Given the description of an element on the screen output the (x, y) to click on. 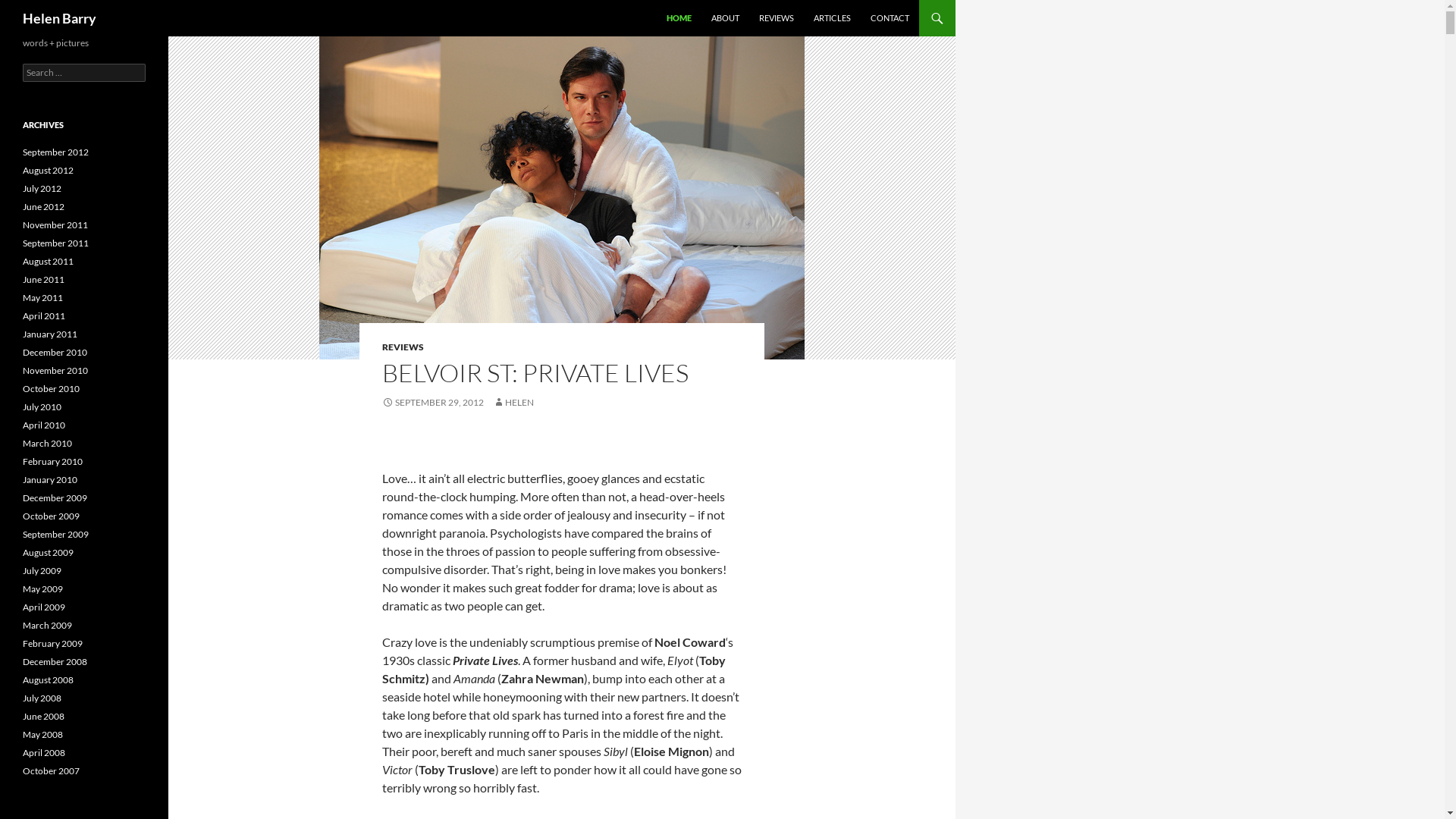
September 2009 Element type: text (55, 533)
August 2008 Element type: text (47, 679)
SKIP TO CONTENT Element type: text (666, 0)
August 2009 Element type: text (47, 552)
March 2009 Element type: text (47, 624)
July 2008 Element type: text (41, 697)
December 2009 Element type: text (54, 497)
July 2009 Element type: text (41, 570)
July 2010 Element type: text (41, 406)
April 2011 Element type: text (43, 315)
January 2010 Element type: text (49, 479)
October 2007 Element type: text (50, 770)
February 2010 Element type: text (52, 461)
January 2011 Element type: text (49, 333)
December 2008 Element type: text (54, 661)
July 2012 Element type: text (41, 188)
November 2011 Element type: text (54, 224)
REVIEWS Element type: text (402, 346)
CONTACT Element type: text (889, 18)
SEPTEMBER 29, 2012 Element type: text (432, 401)
December 2010 Element type: text (54, 351)
Search Element type: text (3, 0)
May 2008 Element type: text (42, 734)
September 2011 Element type: text (55, 242)
April 2010 Element type: text (43, 424)
November 2010 Element type: text (54, 370)
September 2012 Element type: text (55, 151)
May 2009 Element type: text (42, 588)
Search Element type: text (29, 9)
October 2009 Element type: text (50, 515)
August 2011 Element type: text (47, 260)
June 2008 Element type: text (43, 715)
ARTICLES Element type: text (831, 18)
ABOUT Element type: text (725, 18)
June 2012 Element type: text (43, 206)
May 2011 Element type: text (42, 297)
August 2012 Element type: text (47, 169)
February 2009 Element type: text (52, 643)
HOME Element type: text (678, 18)
March 2010 Element type: text (47, 442)
REVIEWS Element type: text (776, 18)
June 2011 Element type: text (43, 279)
April 2008 Element type: text (43, 752)
Helen Barry Element type: text (59, 18)
October 2010 Element type: text (50, 388)
HELEN Element type: text (512, 401)
BELVOIR ST: PRIVATE LIVES Element type: text (535, 372)
April 2009 Element type: text (43, 606)
